Given the description of an element on the screen output the (x, y) to click on. 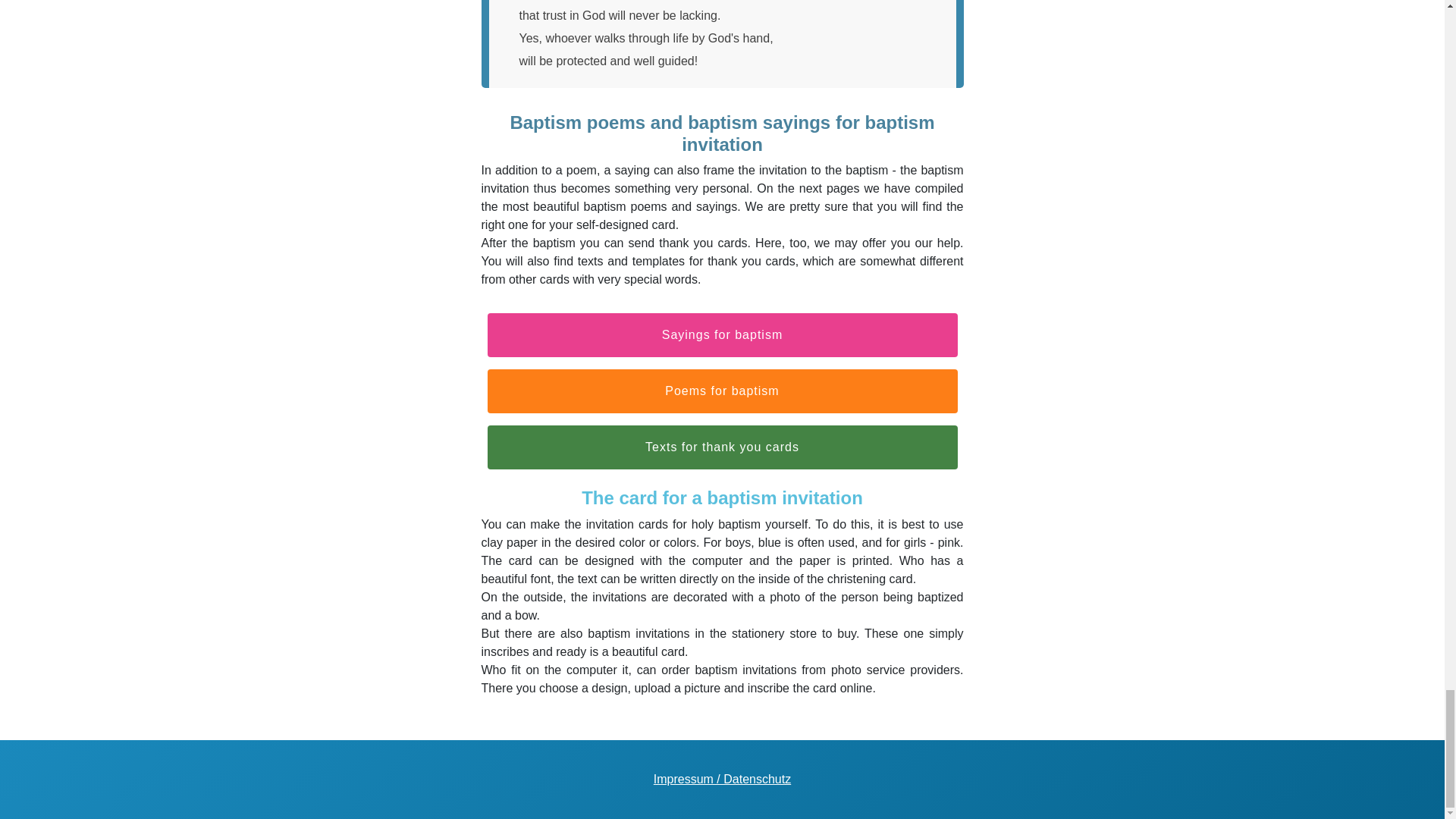
Text for a thank you card after baptism (721, 447)
Baptism sayings (721, 334)
Baptism poems (721, 391)
